Given the description of an element on the screen output the (x, y) to click on. 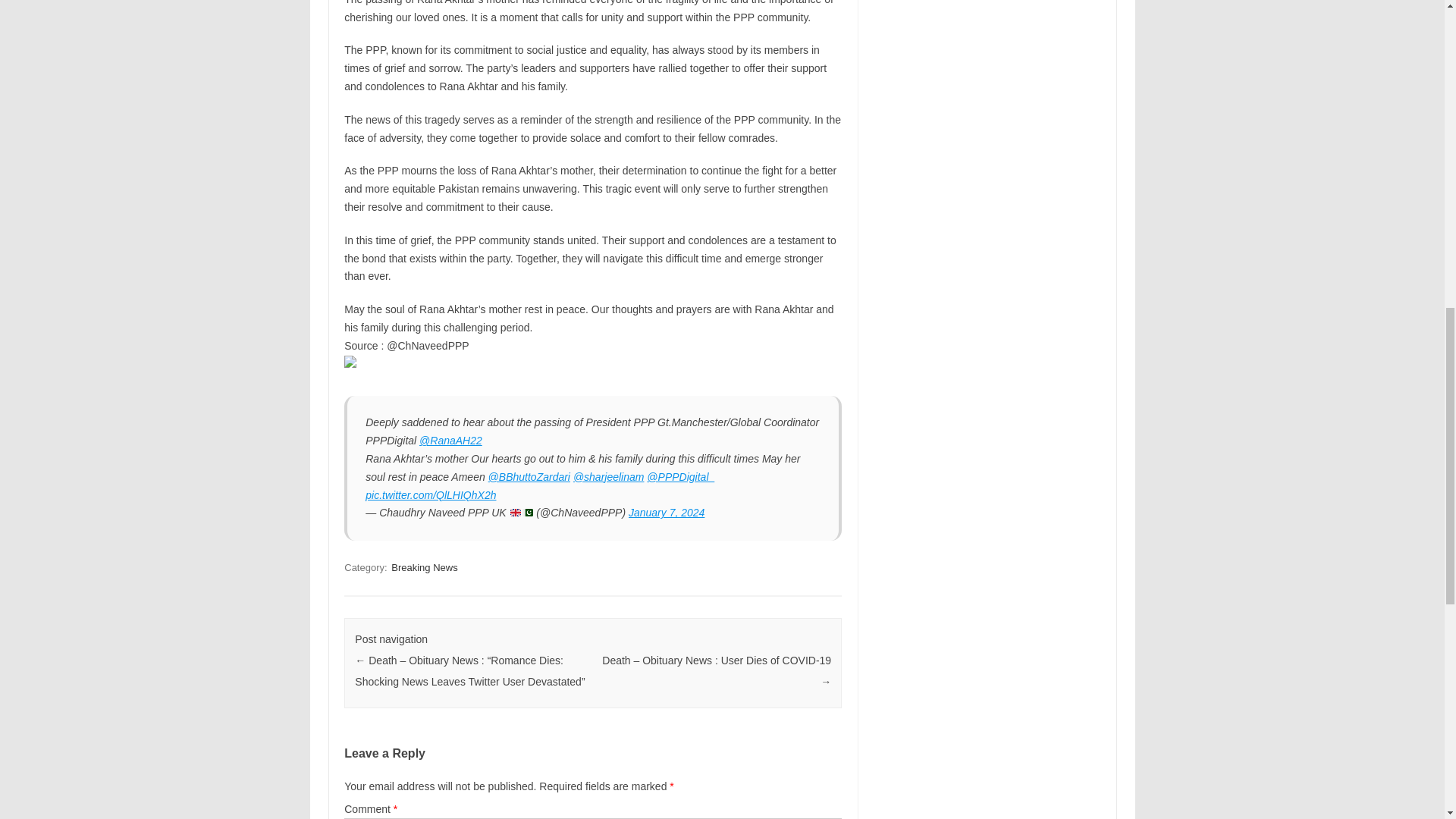
January 7, 2024 (666, 512)
Breaking News (424, 567)
